Given the description of an element on the screen output the (x, y) to click on. 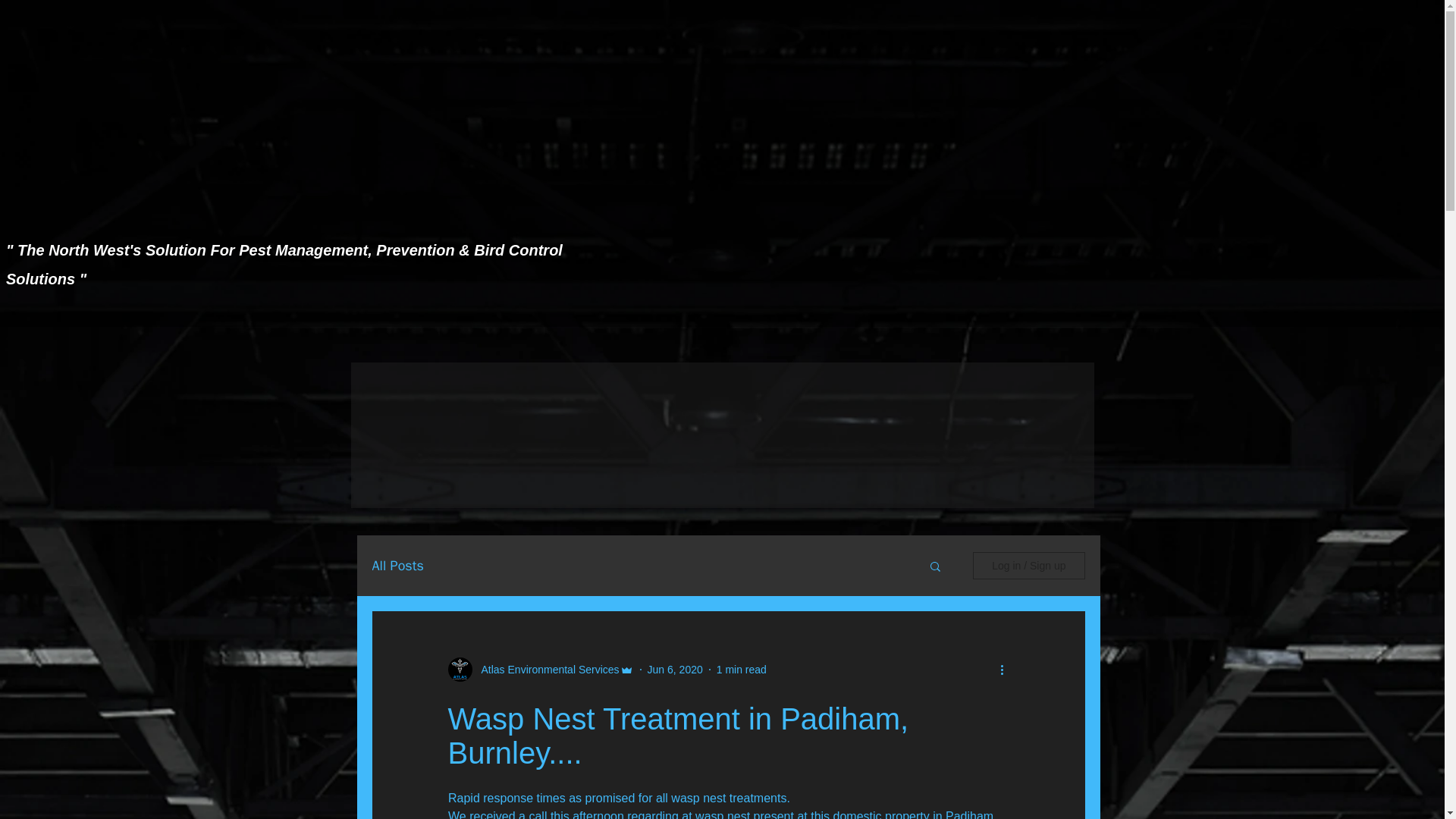
1 min read (741, 669)
Atlas Environmental Services (544, 669)
Jun 6, 2020 (675, 669)
